Given the description of an element on the screen output the (x, y) to click on. 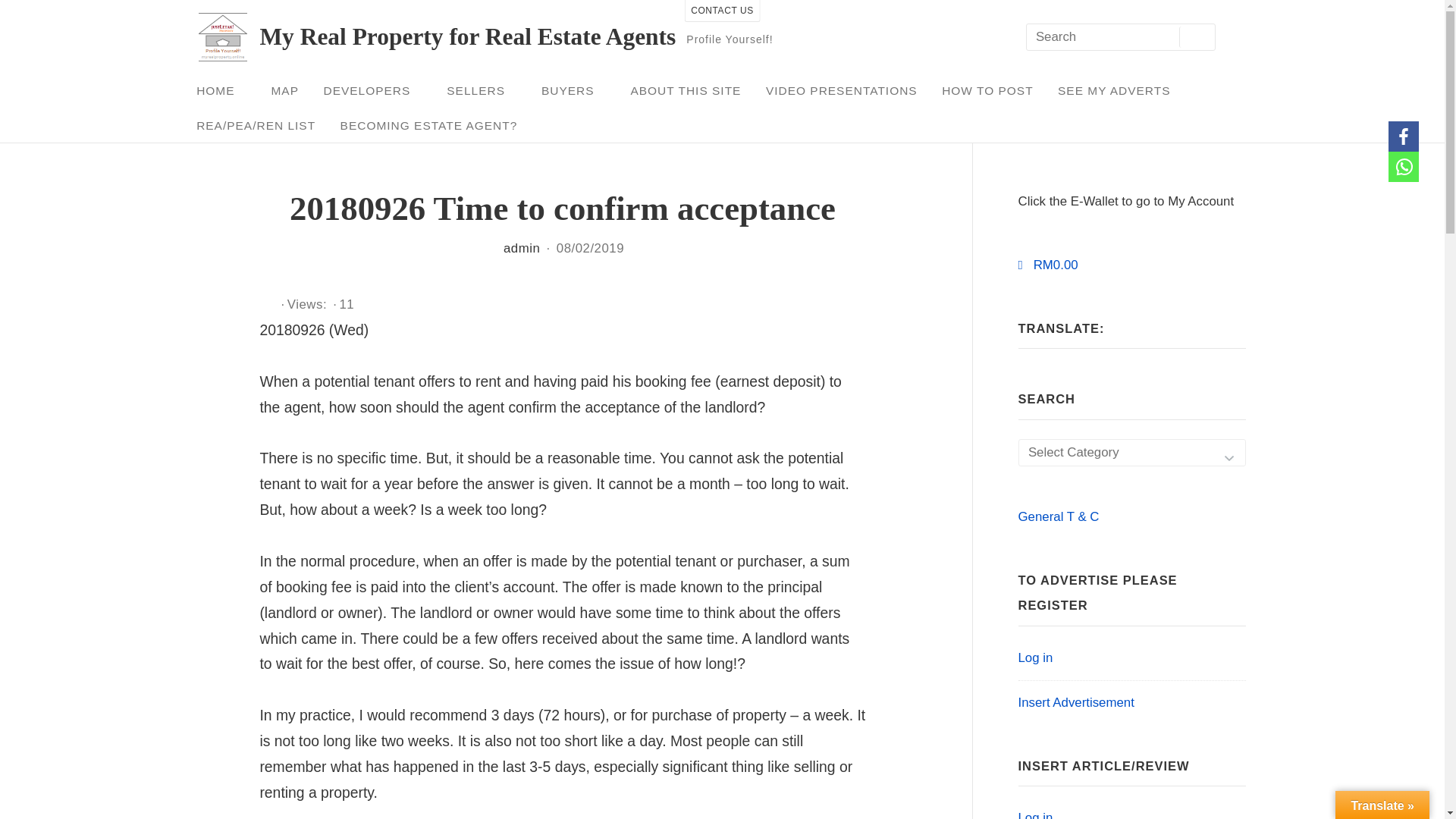
CONTACT US (722, 11)
HOME (221, 91)
My Real Property for Real Estate Agents (467, 36)
SEARCH (1196, 36)
Search for: (1119, 37)
Facebook (1403, 136)
DEVELOPERS (372, 91)
SELLERS (481, 91)
Current wallet balance (1047, 264)
MAP (284, 90)
